Given the description of an element on the screen output the (x, y) to click on. 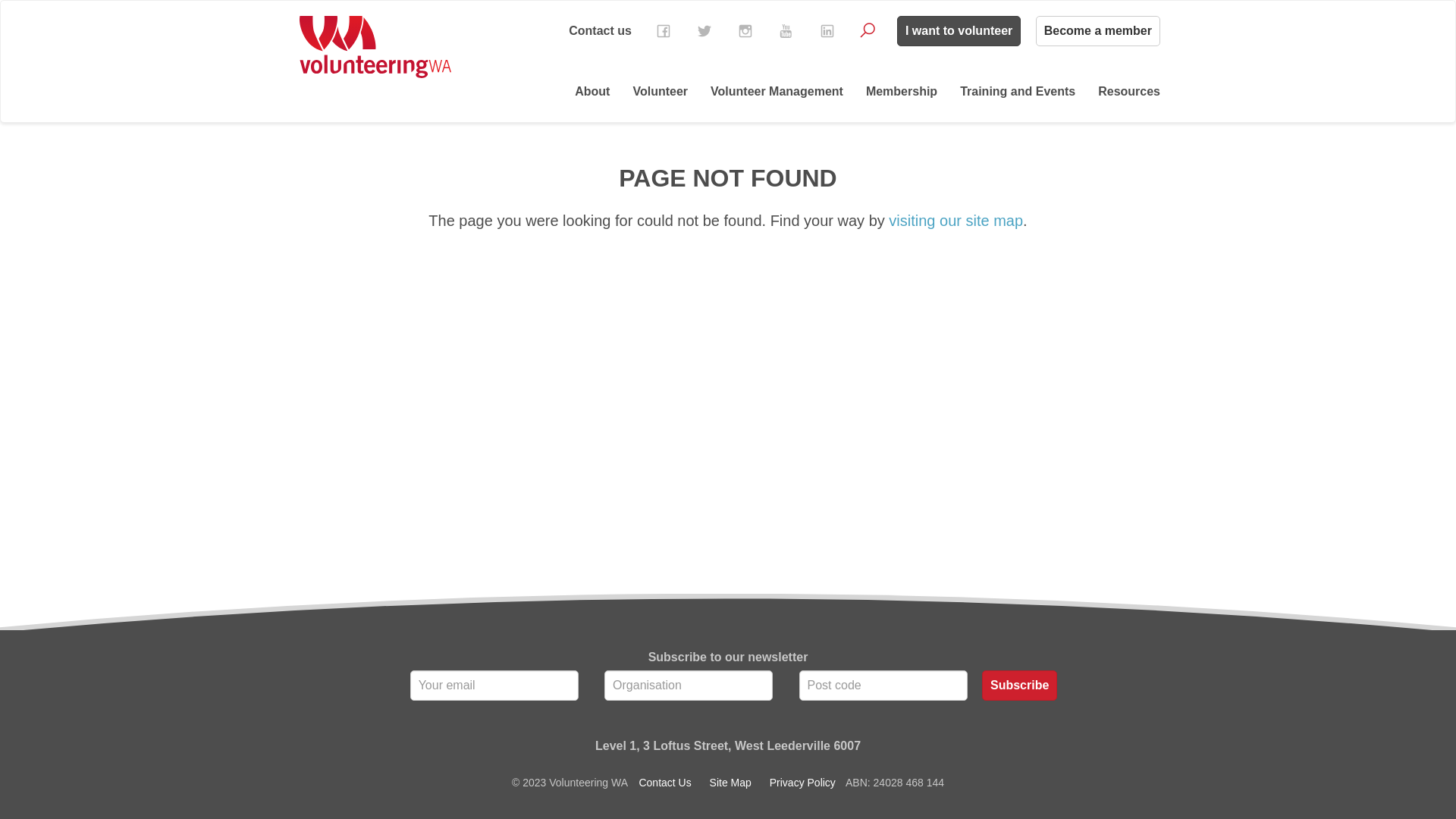
Subscribe Element type: text (1019, 685)
LinkedIn Element type: text (826, 30)
I want to volunteer Element type: text (958, 30)
About Element type: text (592, 91)
Training and Events Element type: text (1017, 91)
visiting our site map Element type: text (955, 220)
YouTube Element type: text (785, 30)
Contact us Element type: text (599, 30)
Twitter Element type: text (704, 30)
Contact Us Element type: text (664, 782)
Become a member Element type: text (1097, 30)
Resources Element type: text (1128, 91)
Search Element type: text (867, 29)
Privacy Policy Element type: text (802, 782)
Volunteer Element type: text (660, 91)
Membership Element type: text (901, 91)
Facebook Element type: text (663, 30)
Volunteer Management Element type: text (776, 91)
Instagram Element type: text (744, 30)
Site Map Element type: text (730, 782)
